Given the description of an element on the screen output the (x, y) to click on. 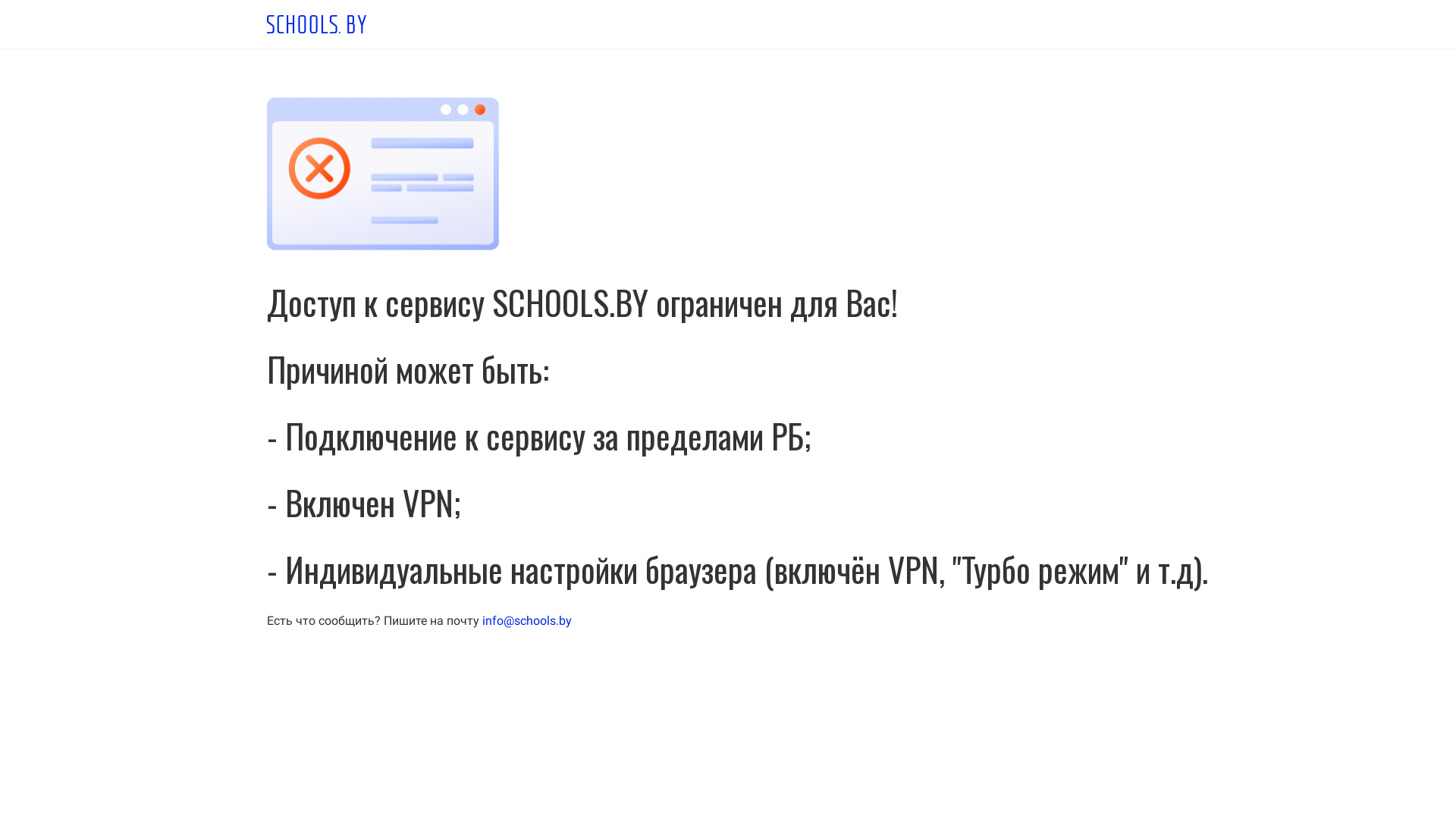
info@schools.by Element type: text (526, 620)
